Given the description of an element on the screen output the (x, y) to click on. 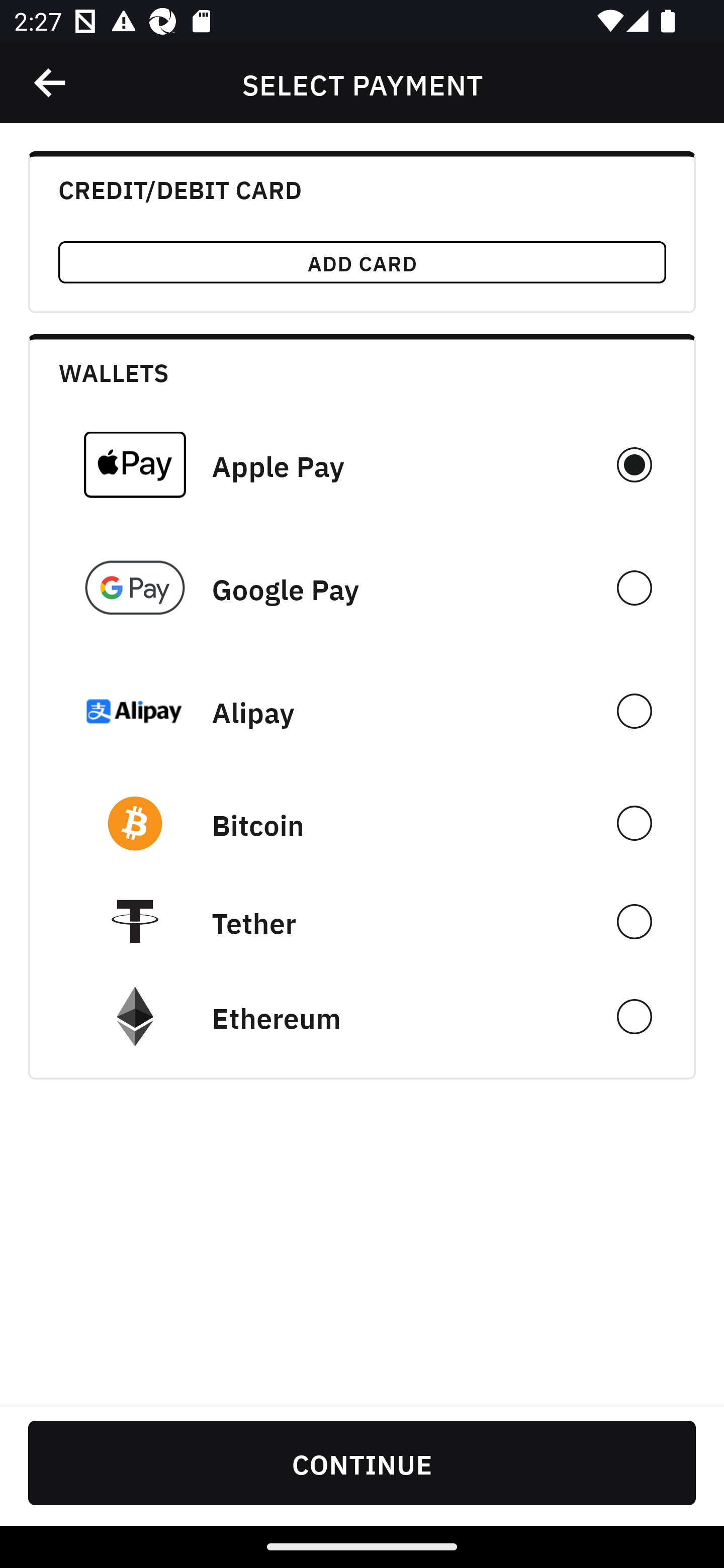
 (50, 83)
ADD CARD (362, 262)
Apple Pay (362, 464)
Google Pay (362, 587)
Alipay (362, 711)
󰠓 Bitcoin (362, 823)
Tether (362, 921)
Ethereum (362, 1016)
CONTINUE (361, 1462)
